Given the description of an element on the screen output the (x, y) to click on. 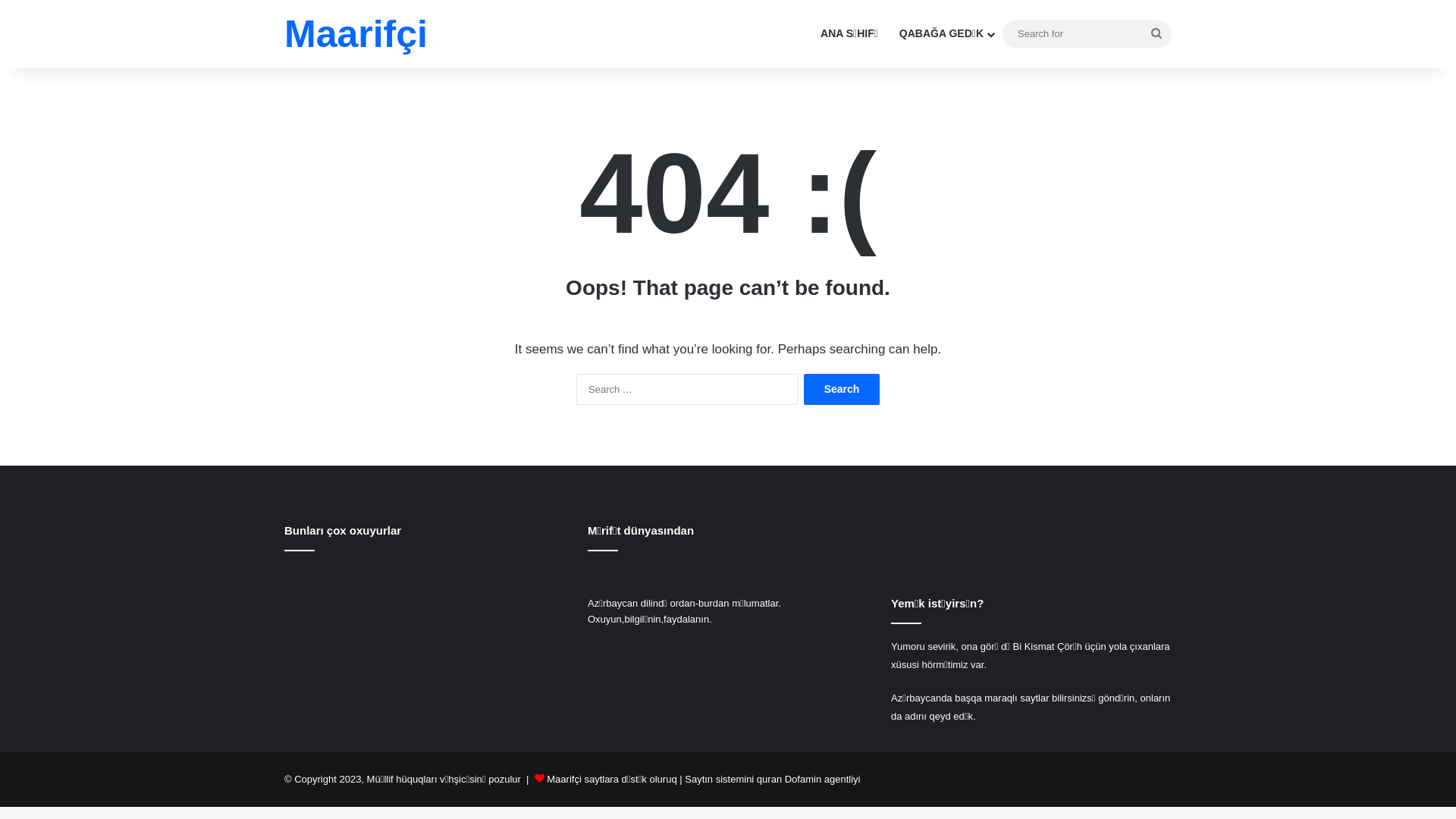
Search Element type: text (841, 388)
Search for Element type: text (1156, 33)
Dofamin agentliyi Element type: text (822, 778)
Search for Element type: hover (1086, 32)
